Given the description of an element on the screen output the (x, y) to click on. 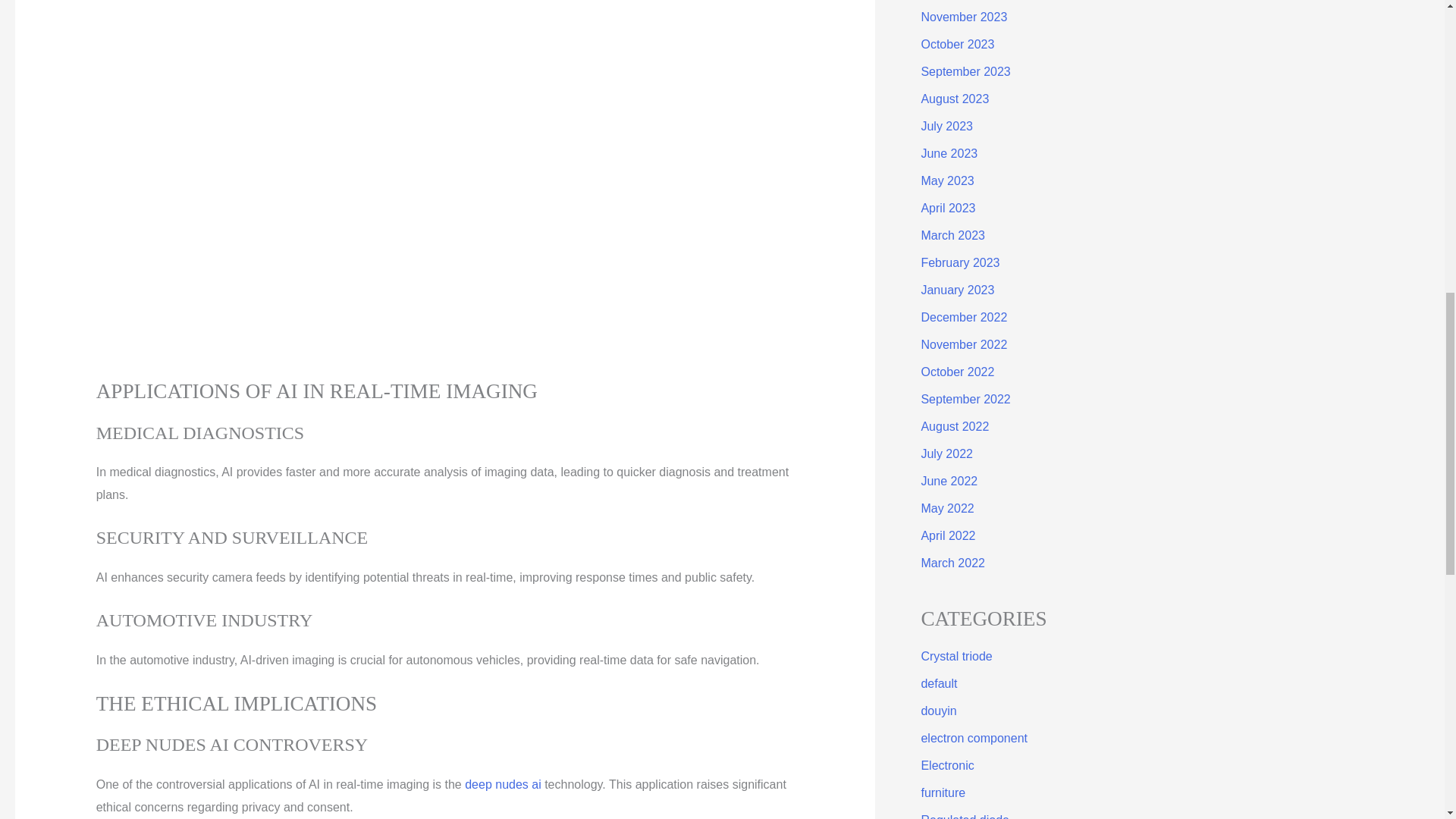
deep nudes ai (502, 784)
November 2023 (963, 16)
August 2023 (954, 98)
October 2023 (957, 43)
July 2023 (946, 125)
June 2023 (948, 153)
September 2023 (965, 71)
